Given the description of an element on the screen output the (x, y) to click on. 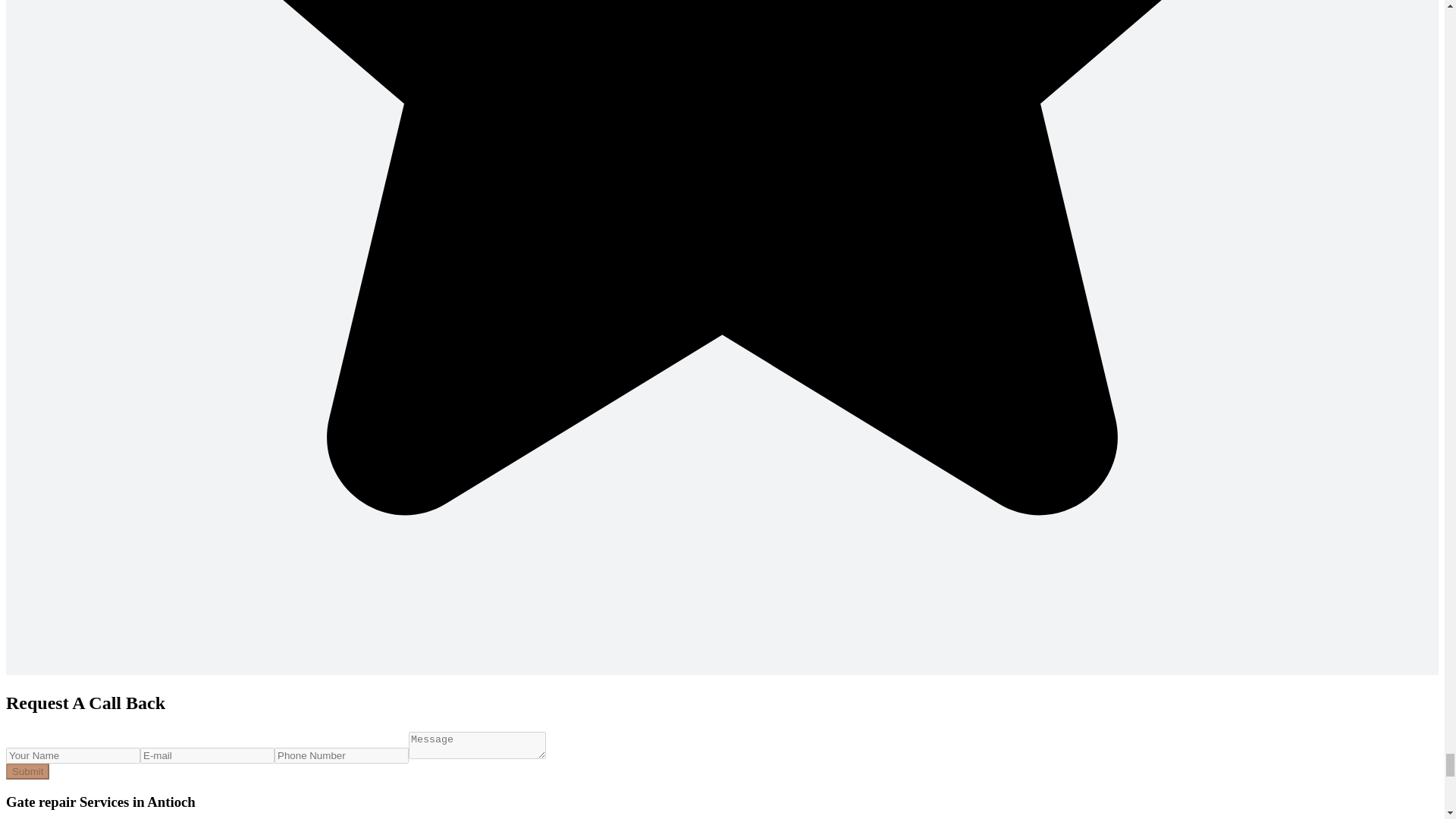
Submit (27, 771)
